Given the description of an element on the screen output the (x, y) to click on. 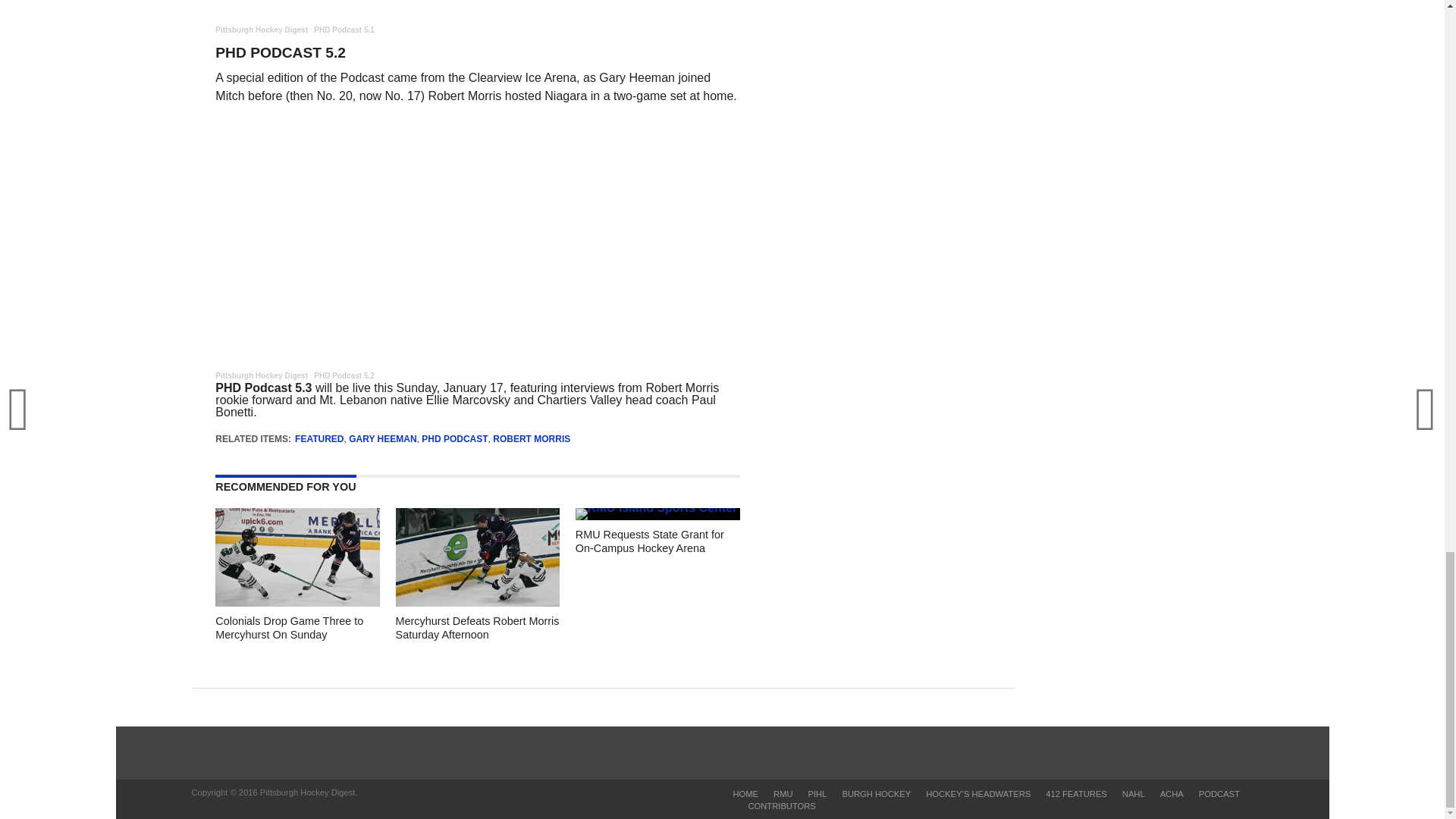
Pittsburgh Hockey Digest (261, 29)
Pittsburgh Hockey Digest (261, 375)
PHD Podcast 5.2 (344, 375)
PHD Podcast 5.1 (344, 29)
